Given the description of an element on the screen output the (x, y) to click on. 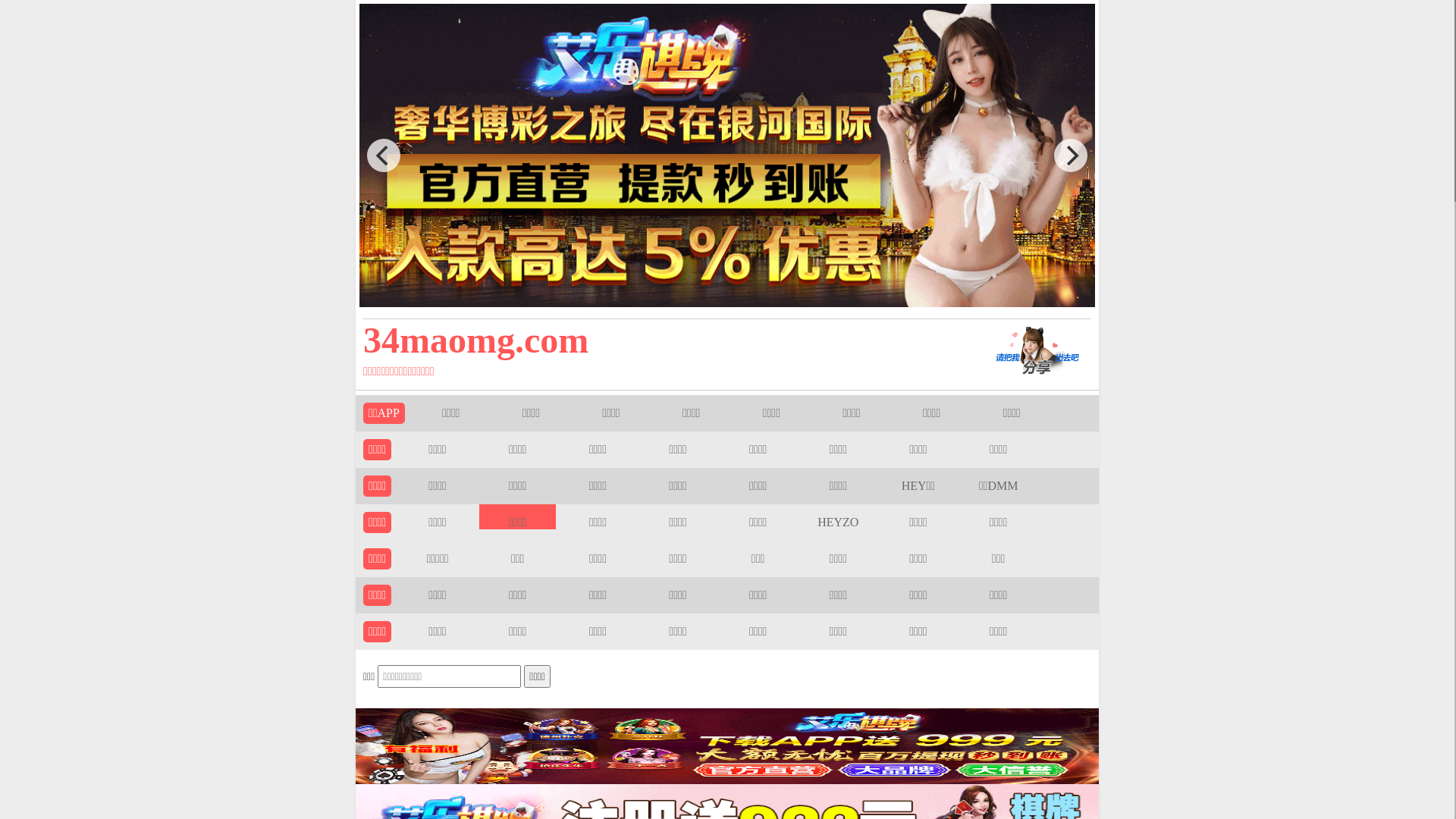
HEYZO Element type: text (837, 521)
34maomg.com Element type: text (654, 339)
